Given the description of an element on the screen output the (x, y) to click on. 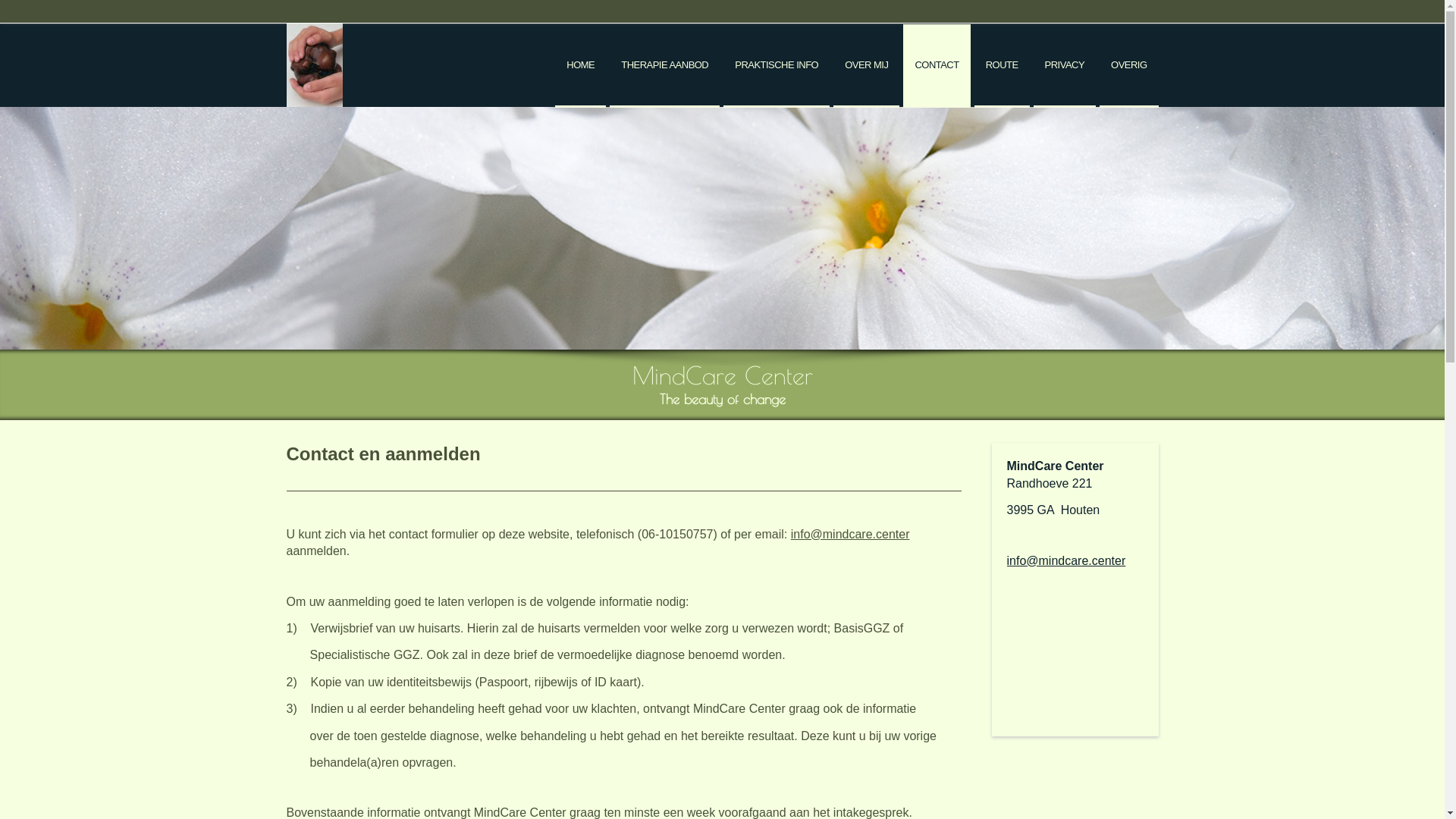
ROUTE Element type: text (1001, 65)
OVERIG Element type: text (1128, 65)
HOME Element type: text (580, 65)
PRIVACY Element type: text (1064, 65)
info@mindcare.center Element type: text (1066, 560)
OVER MIJ Element type: text (866, 65)
PRAKTISCHE INFO Element type: text (776, 65)
CONTACT Element type: text (936, 65)
THERAPIE AANBOD Element type: text (664, 65)
info@mindcare.center Element type: text (850, 533)
